Given the description of an element on the screen output the (x, y) to click on. 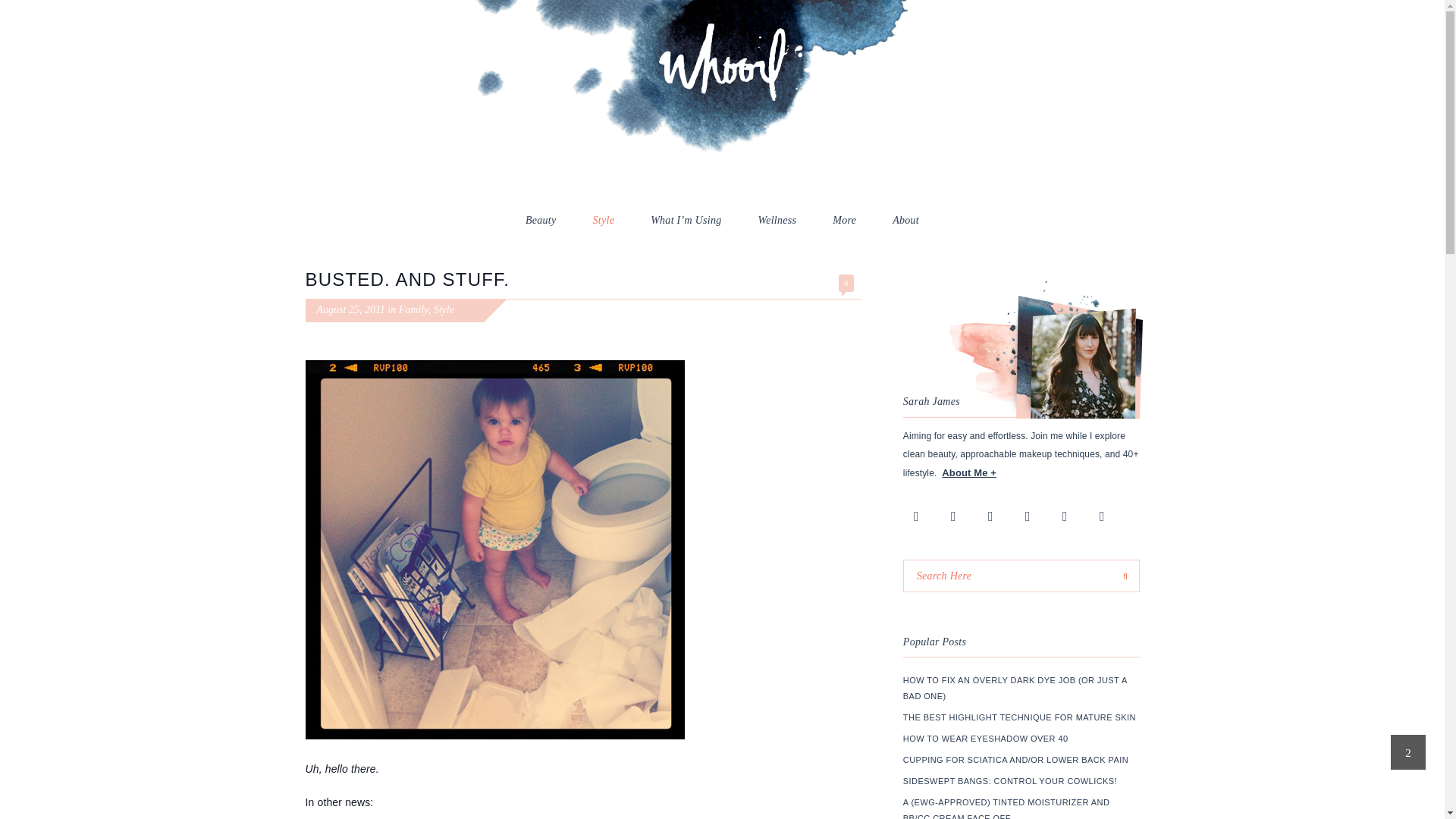
Beauty (540, 220)
Wellness (777, 220)
Style (604, 220)
More (844, 220)
